Given the description of an element on the screen output the (x, y) to click on. 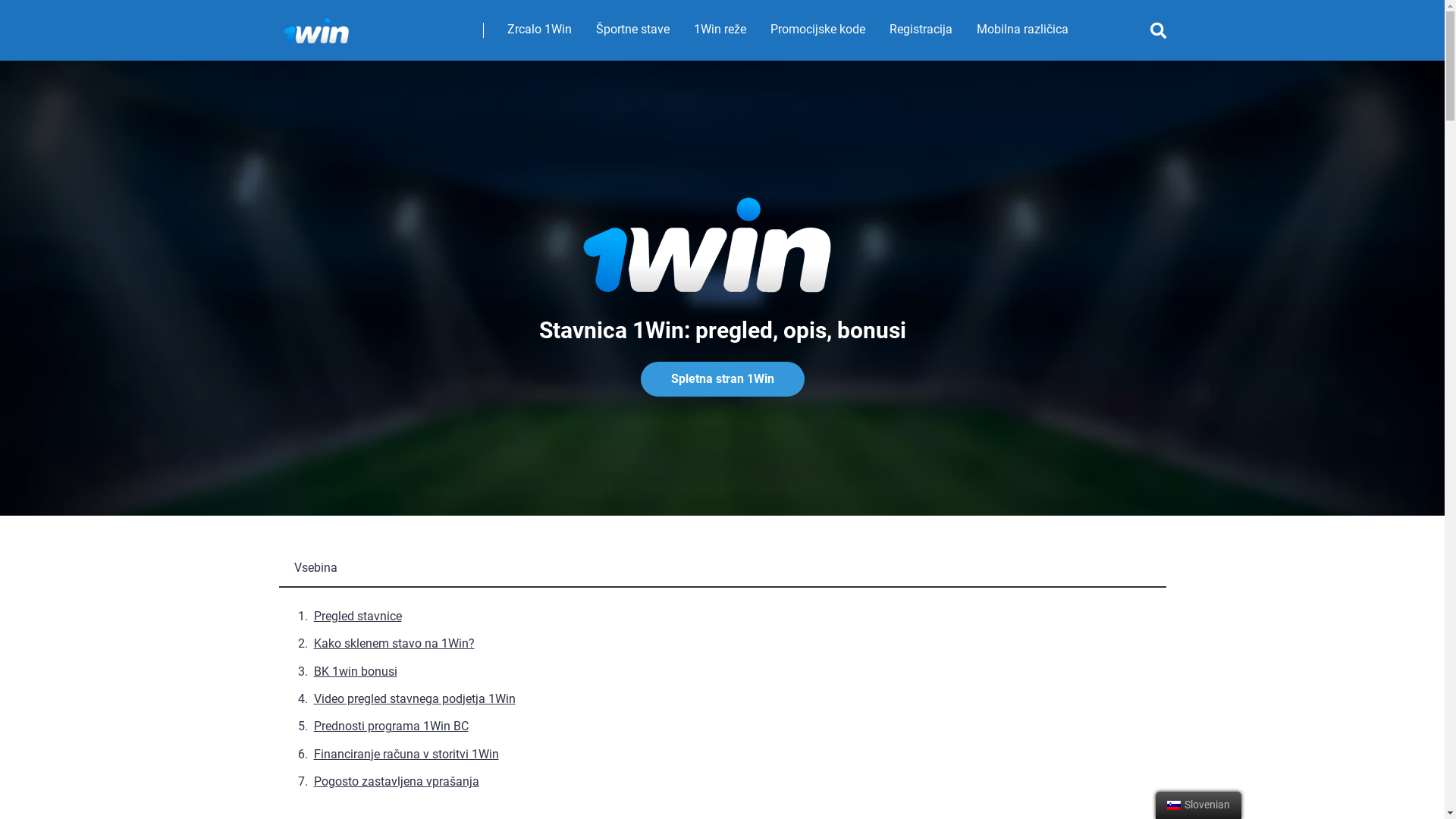
Slovenian Element type: hover (1173, 804)
Prednosti programa 1Win BC Element type: text (390, 725)
Zrcalo 1Win Element type: text (538, 30)
BK 1win bonusi Element type: text (355, 671)
Pregled stavnice Element type: text (357, 615)
Promocijske kode Element type: text (817, 30)
Registracija Element type: text (919, 30)
Kako sklenem stavo na 1Win? Element type: text (393, 643)
Video pregled stavnega podjetja 1Win Element type: text (414, 698)
Spletna stran 1Win Element type: text (721, 378)
